Given the description of an element on the screen output the (x, y) to click on. 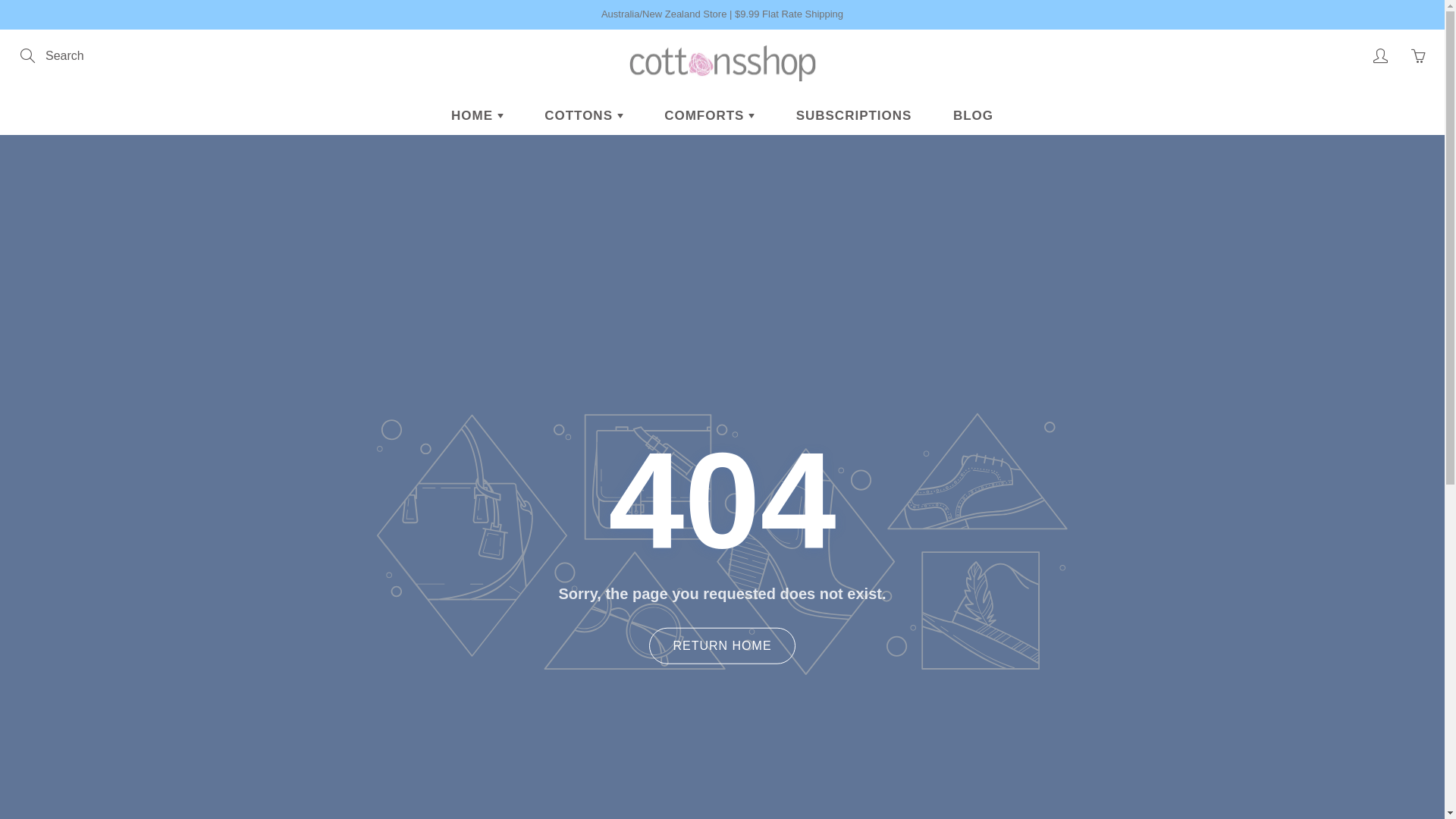
HOME Element type: text (477, 115)
Search Element type: text (28, 55)
You have 0 items in your cart Element type: text (1417, 55)
COTTONS Element type: text (583, 115)
My account Element type: text (1379, 55)
COMFORTS Element type: text (709, 115)
SUBSCRIPTIONS Element type: text (854, 115)
BLOG Element type: text (973, 115)
RETURN HOME Element type: text (721, 645)
